Given the description of an element on the screen output the (x, y) to click on. 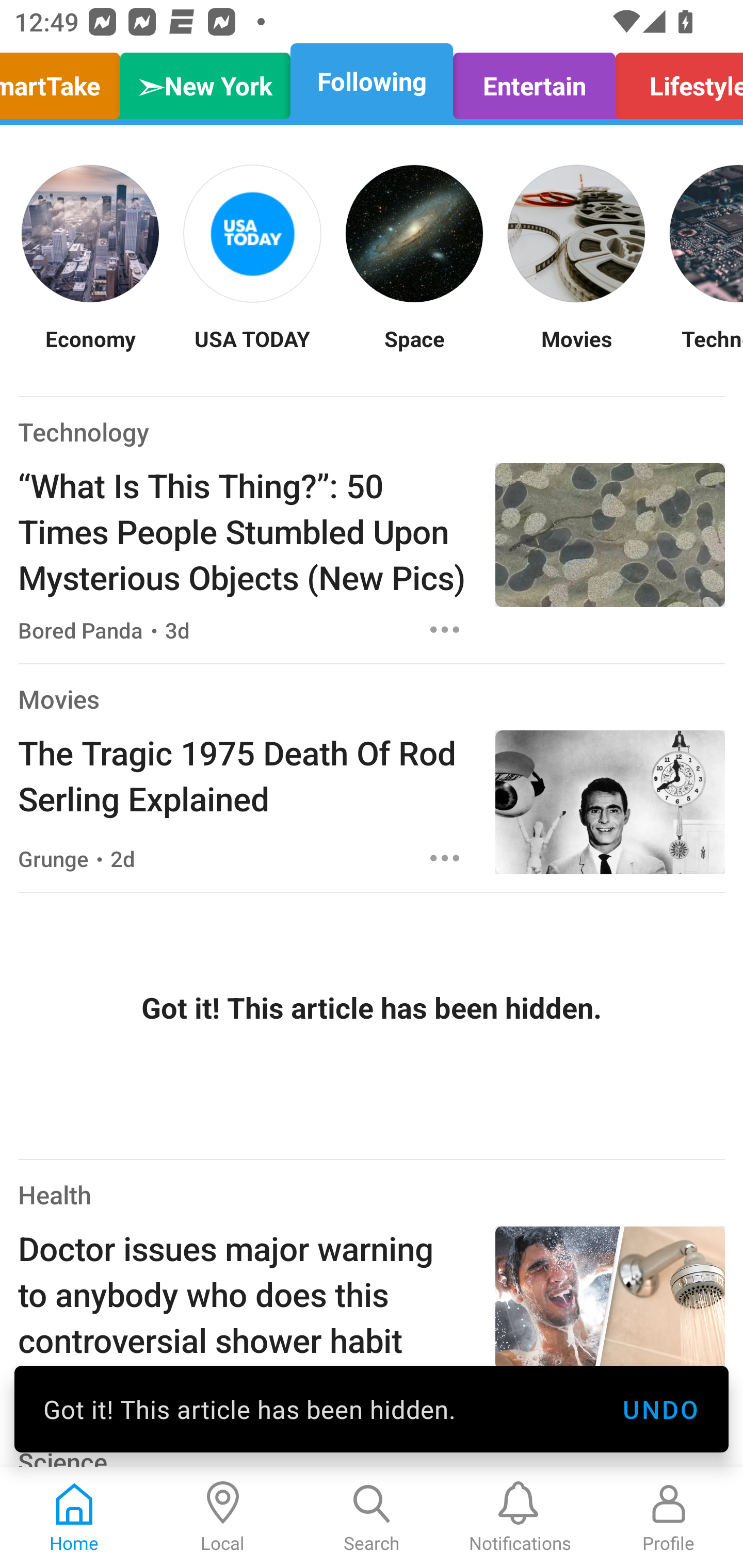
➣New York (205, 81)
Following (371, 81)
Entertain (534, 81)
Economy (89, 350)
USA TODAY (251, 350)
Space (413, 350)
Movies (575, 350)
Technology (83, 430)
Options (444, 629)
Movies (58, 699)
Options (444, 858)
Health (54, 1194)
UNDO (660, 1408)
Local (222, 1517)
Search (371, 1517)
Notifications (519, 1517)
Profile (668, 1517)
